Given the description of an element on the screen output the (x, y) to click on. 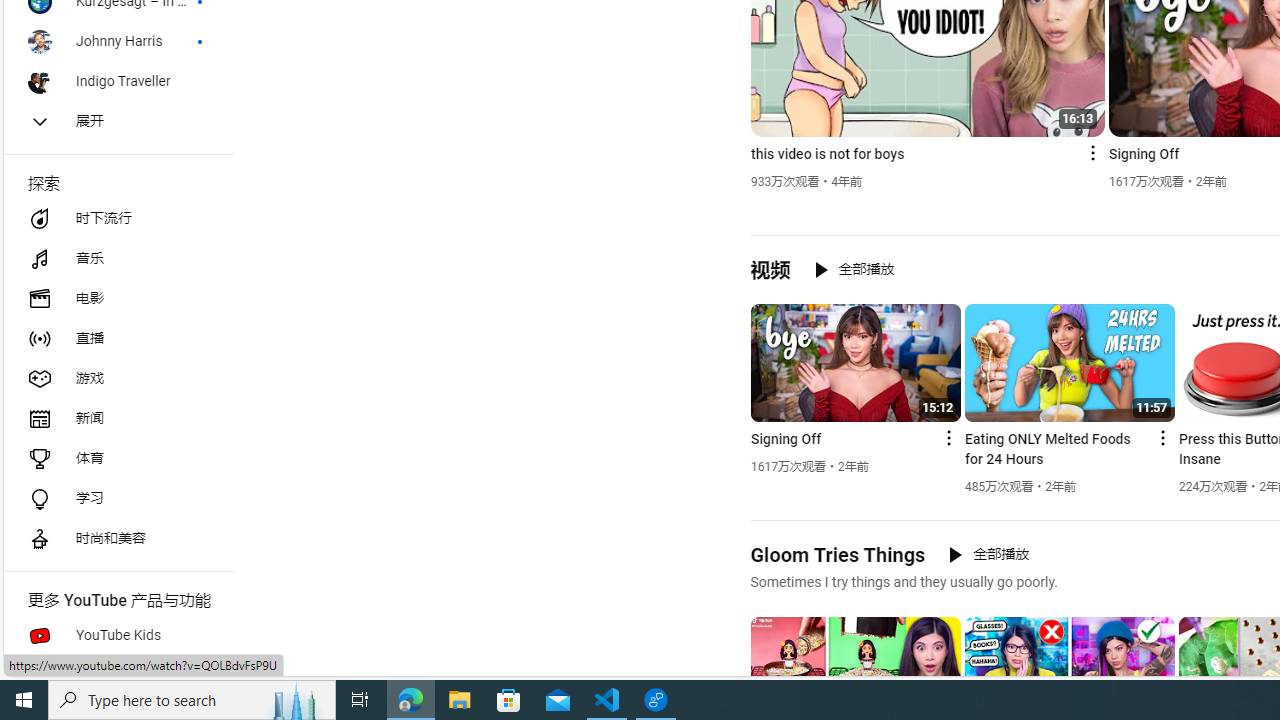
YouTube Kids (117, 635)
Gloom Tries Things (837, 554)
Indigo Traveller (117, 81)
